Given the description of an element on the screen output the (x, y) to click on. 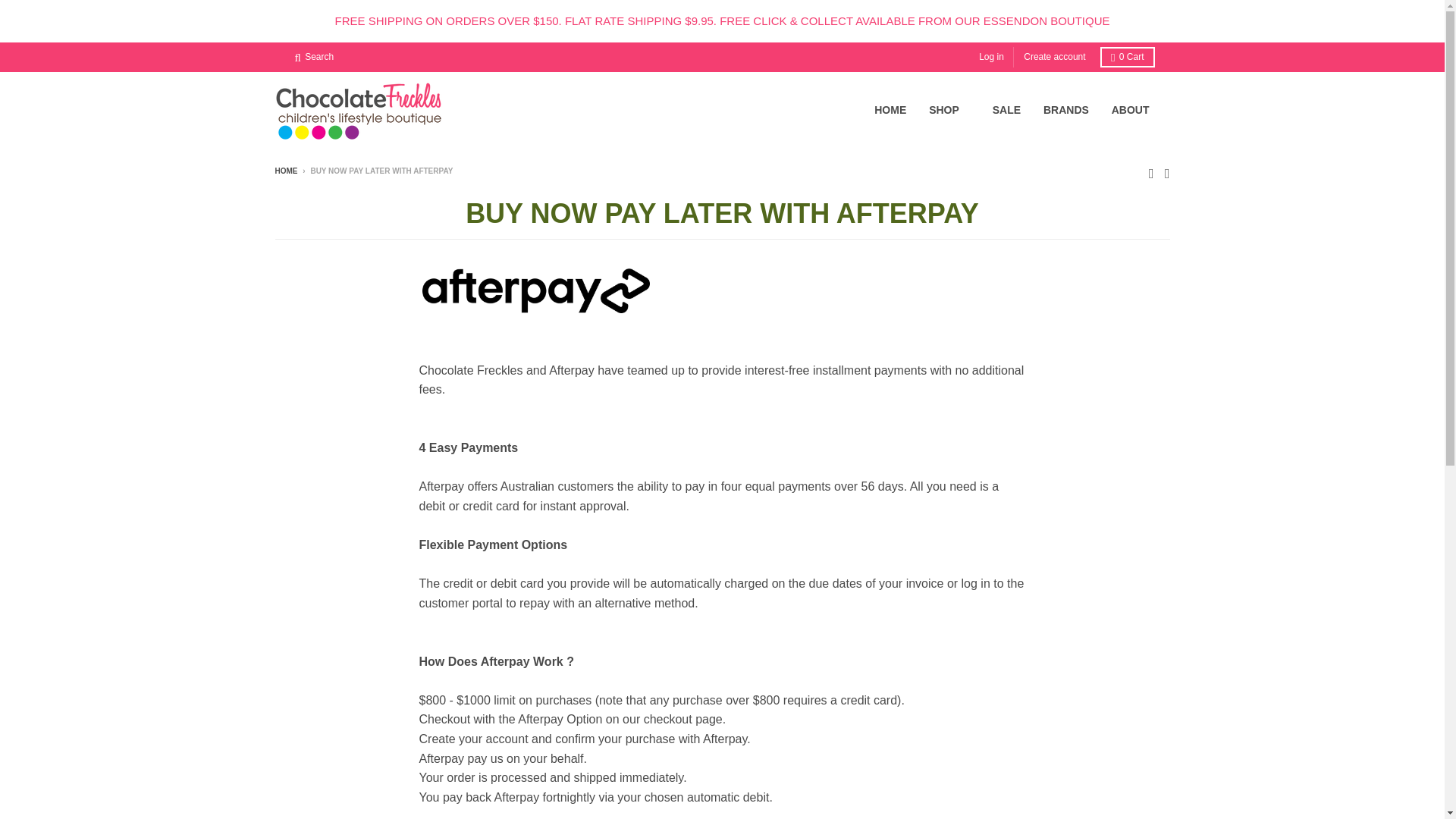
Log in (991, 56)
SHOP (948, 109)
Back to the frontpage (286, 171)
HOME (889, 109)
Search (313, 56)
Create account (1054, 56)
0 Cart (1127, 56)
